Given the description of an element on the screen output the (x, y) to click on. 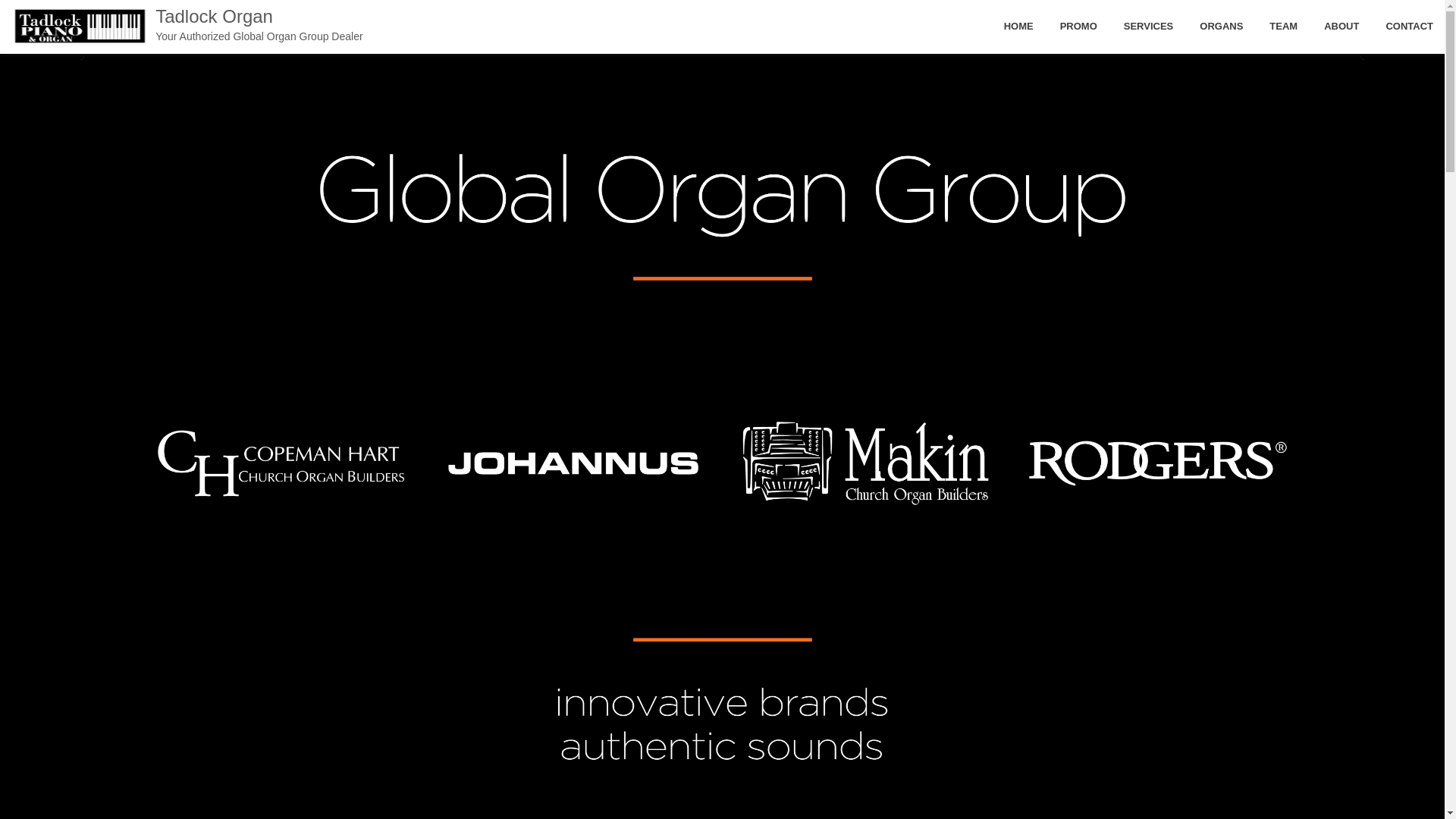
SERVICES (1148, 26)
Tadlock Organ (258, 24)
CONTACT (1409, 26)
